Given the description of an element on the screen output the (x, y) to click on. 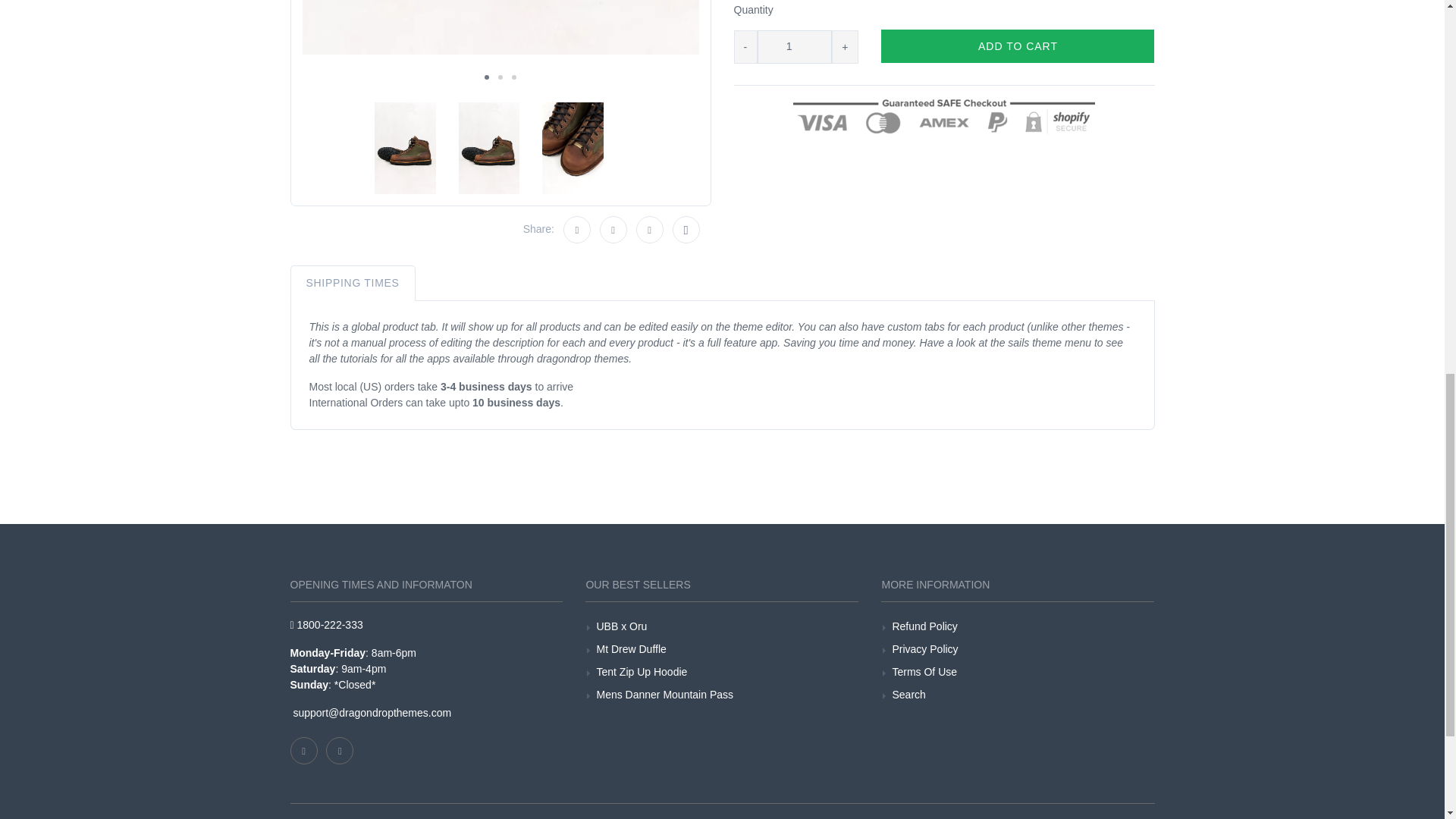
1 (794, 46)
Tweet (613, 229)
Share (577, 229)
Pin it (649, 229)
